Given the description of an element on the screen output the (x, y) to click on. 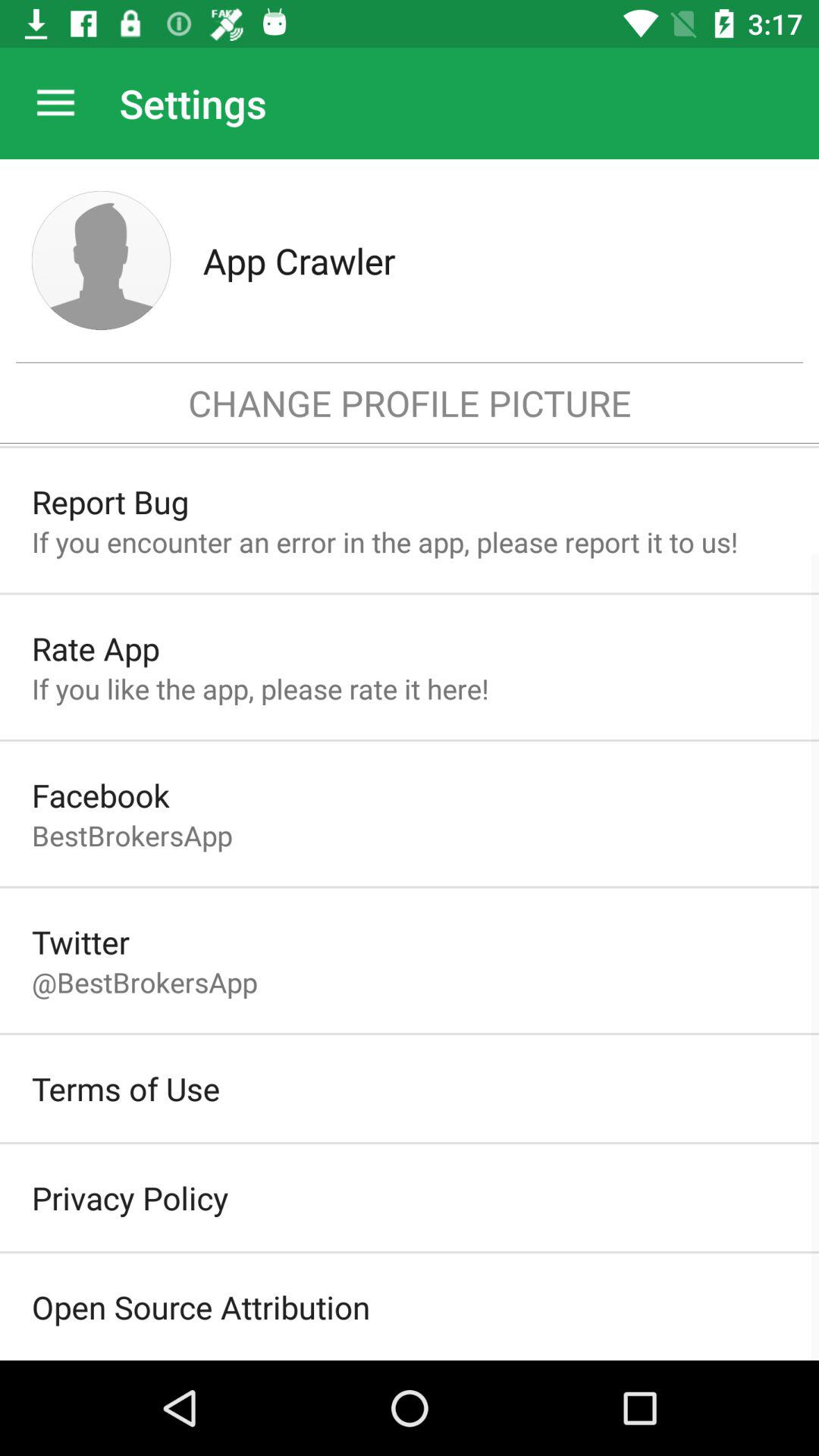
choose item below the privacy policy (200, 1306)
